Given the description of an element on the screen output the (x, y) to click on. 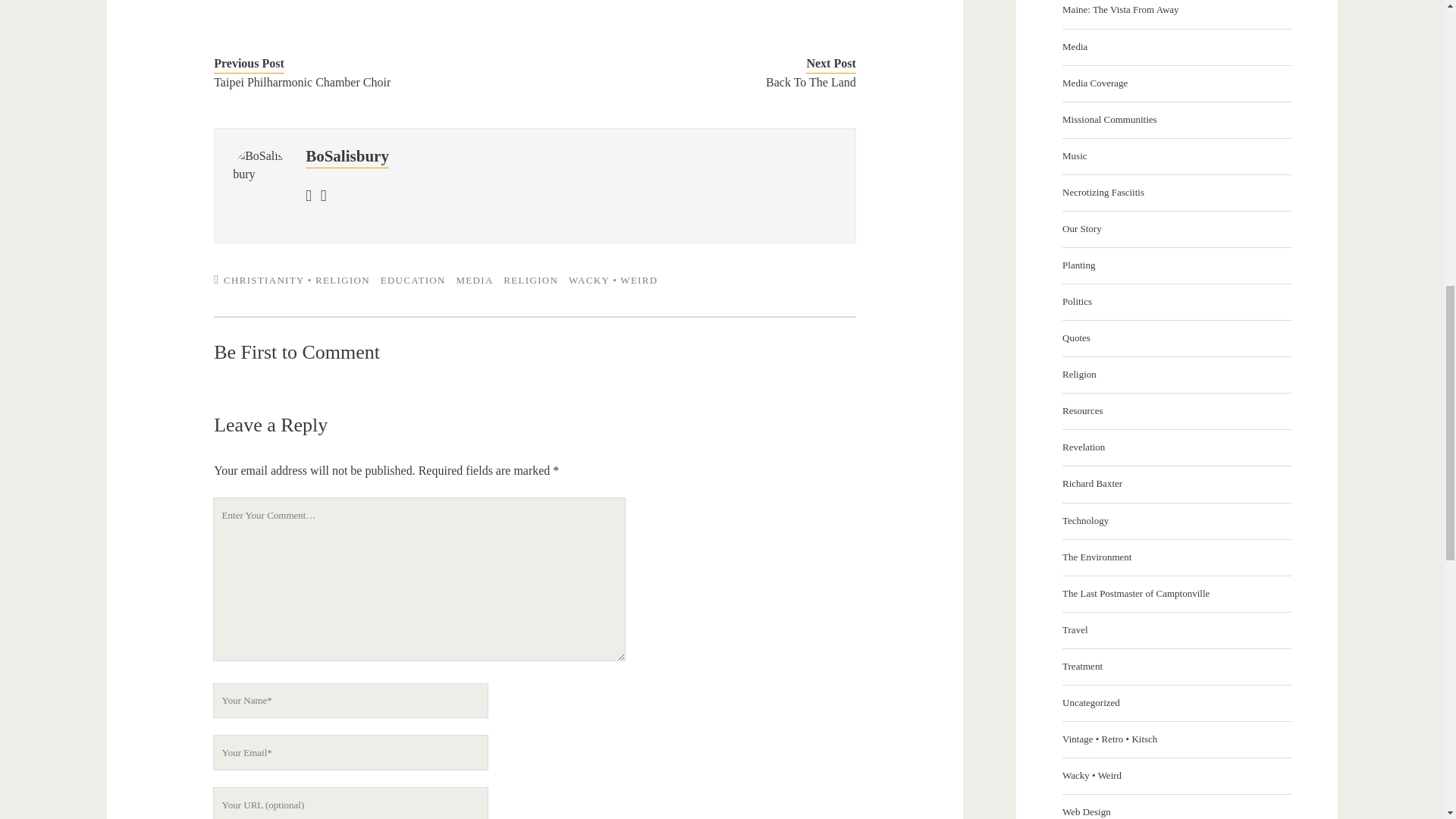
View all posts in Religion (530, 279)
View all posts in Education (412, 279)
View all posts in Media (474, 279)
